Given the description of an element on the screen output the (x, y) to click on. 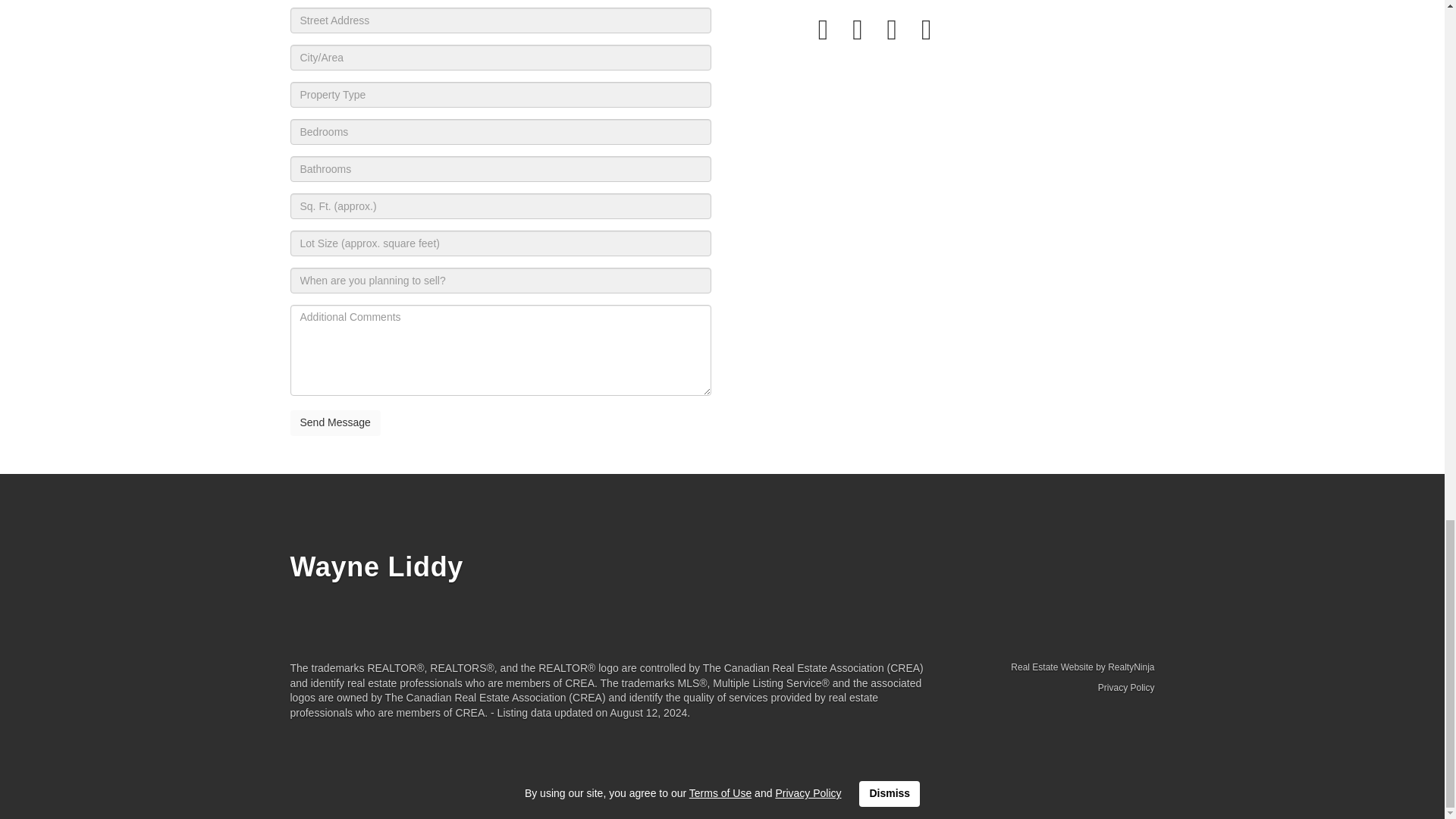
Send Message (334, 422)
Facebook (824, 29)
YouTube (926, 29)
LinkedIn (858, 29)
Real Estate Website by RealtyNinja (1054, 667)
Privacy Policy (1125, 687)
